Given the description of an element on the screen output the (x, y) to click on. 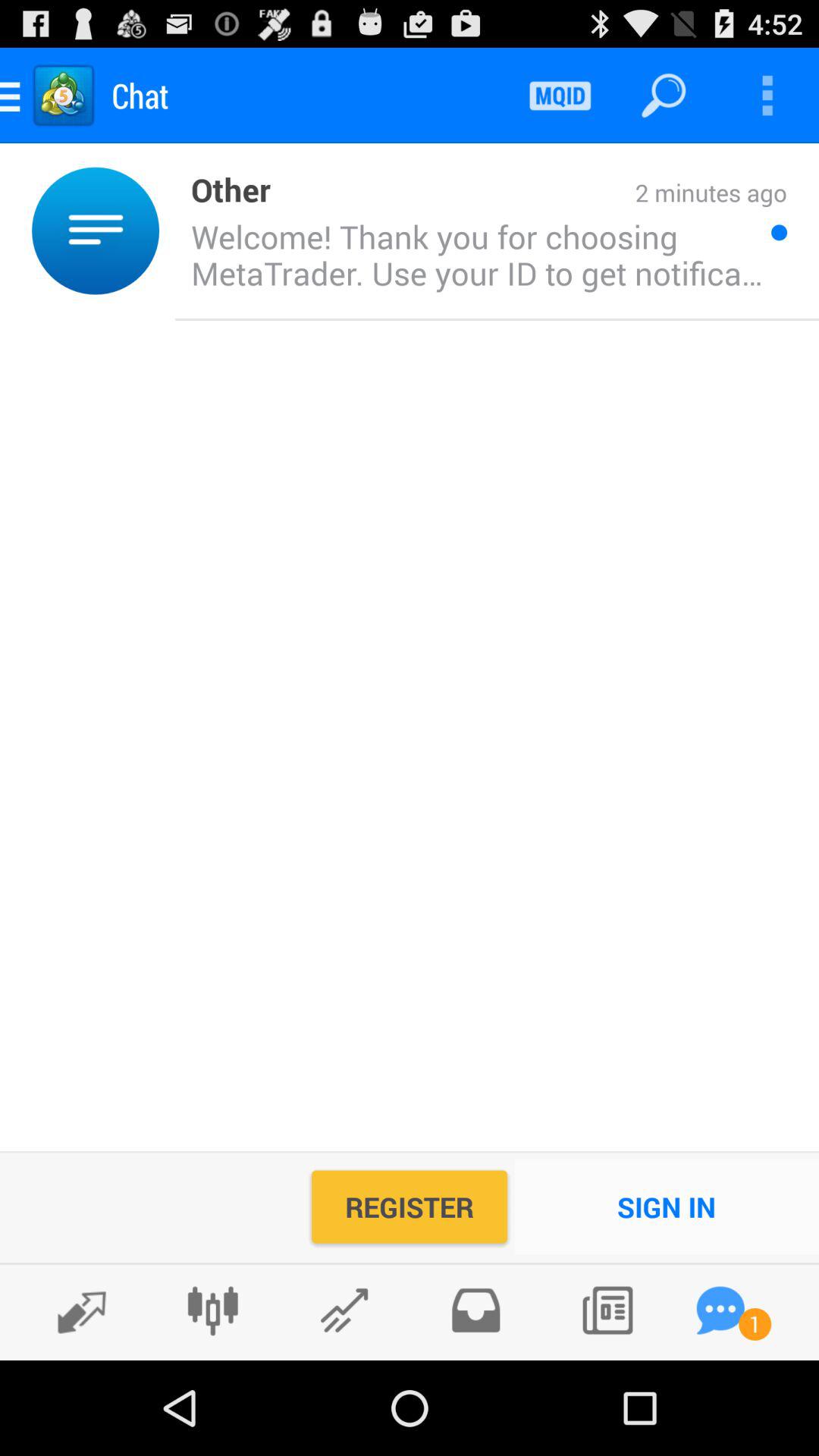
jump to the 2 minutes ago item (528, 194)
